Given the description of an element on the screen output the (x, y) to click on. 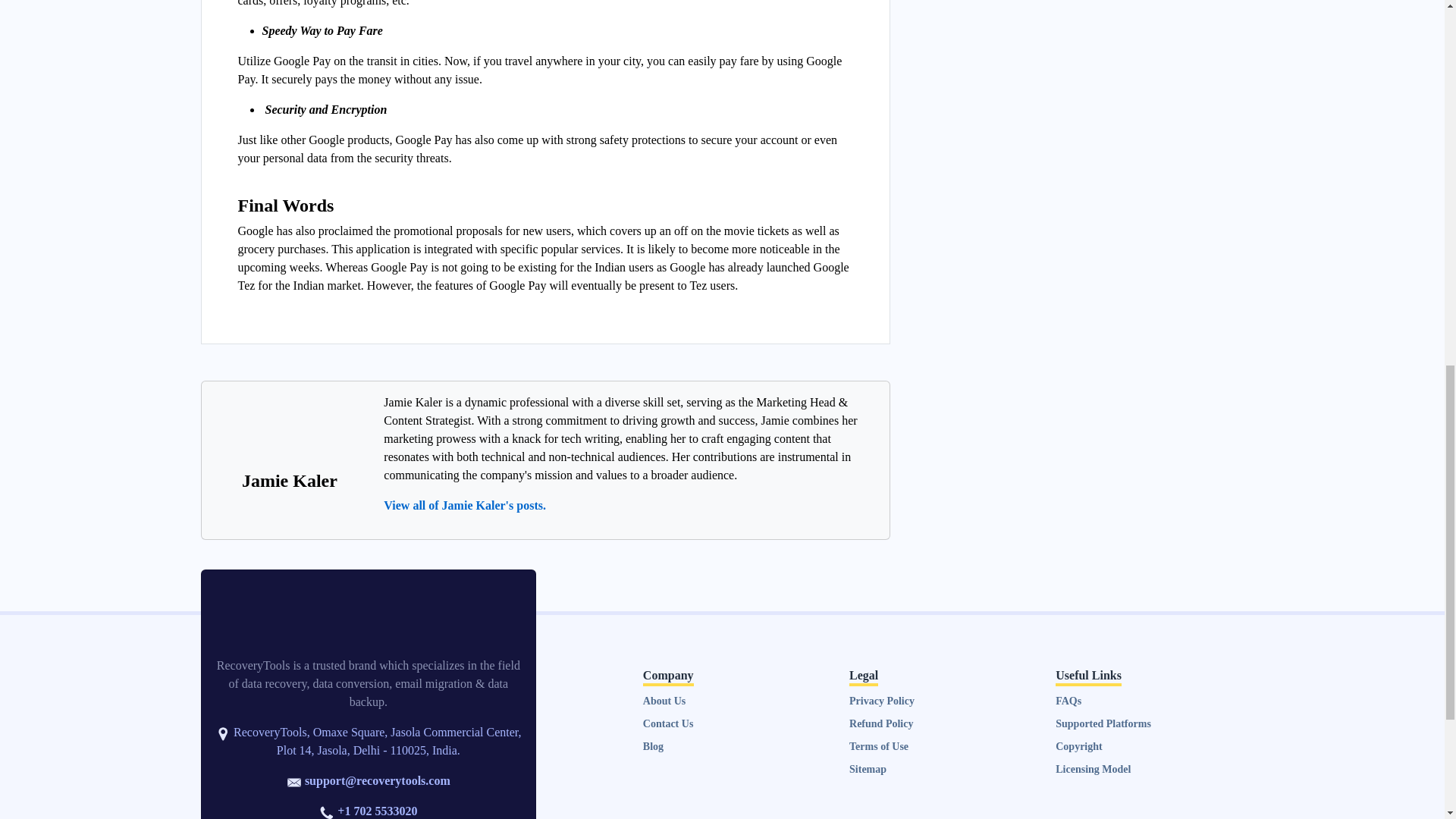
Blog (653, 746)
Refund Policy (880, 723)
Contact Us (668, 723)
About Us (664, 700)
Sitemap (867, 768)
Privacy Policy (881, 700)
FAQs (1068, 700)
Terms of Use (878, 746)
View all of Jamie Kaler's posts. (465, 504)
